Given the description of an element on the screen output the (x, y) to click on. 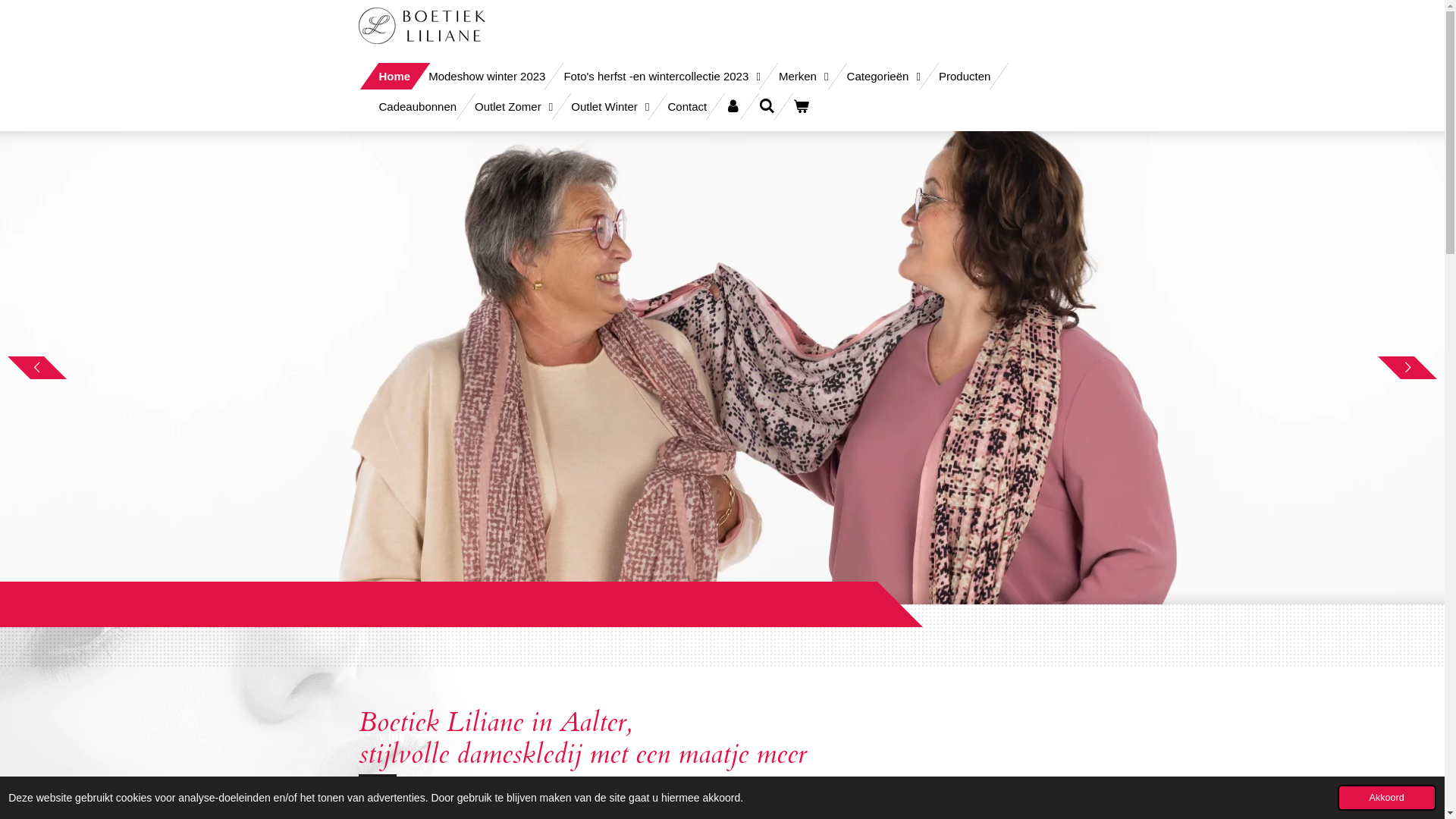
Producten Element type: text (964, 75)
Cadeaubonnen Element type: text (418, 106)
Boetiek Liliane Element type: hover (421, 25)
Zoeken Element type: hover (766, 106)
Outlet Zomer Element type: text (513, 106)
Outlet Winter Element type: text (609, 106)
Account Element type: hover (732, 106)
Contact Element type: text (686, 106)
Akkoord Element type: text (1386, 797)
Bekijk winkelwagen Element type: hover (801, 106)
Modeshow winter 2023 Element type: text (486, 75)
Merken Element type: text (803, 75)
Home Element type: text (395, 75)
Foto's herfst -en wintercollectie 2023 Element type: text (661, 75)
